Given the description of an element on the screen output the (x, y) to click on. 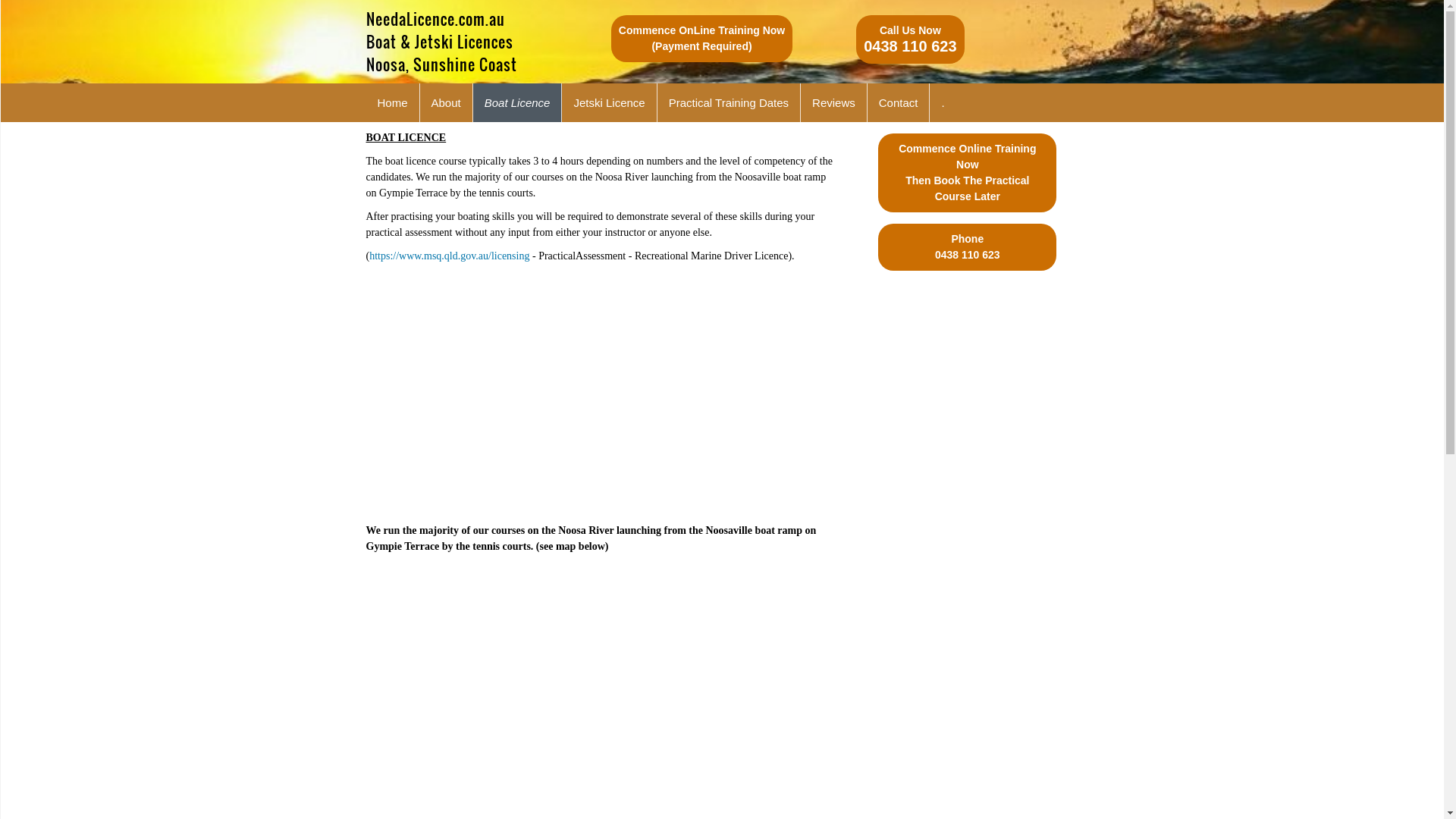
Phone
0438 110 623 Element type: text (967, 246)
Commence OnLine Training Now
(Payment Required) Element type: text (701, 38)
Call Us Now
0438 110 623 Element type: text (909, 39)
Contact Element type: text (898, 102)
. Element type: text (942, 102)
Practical Training Dates Element type: text (728, 102)
Home Element type: text (392, 102)
Reviews Element type: text (833, 102)
Boat Licence Element type: text (517, 102)
https://www.msq.qld.gov.au/licensing Element type: text (449, 255)
Jetski Licence Element type: text (608, 102)
About Element type: text (446, 102)
